Given the description of an element on the screen output the (x, y) to click on. 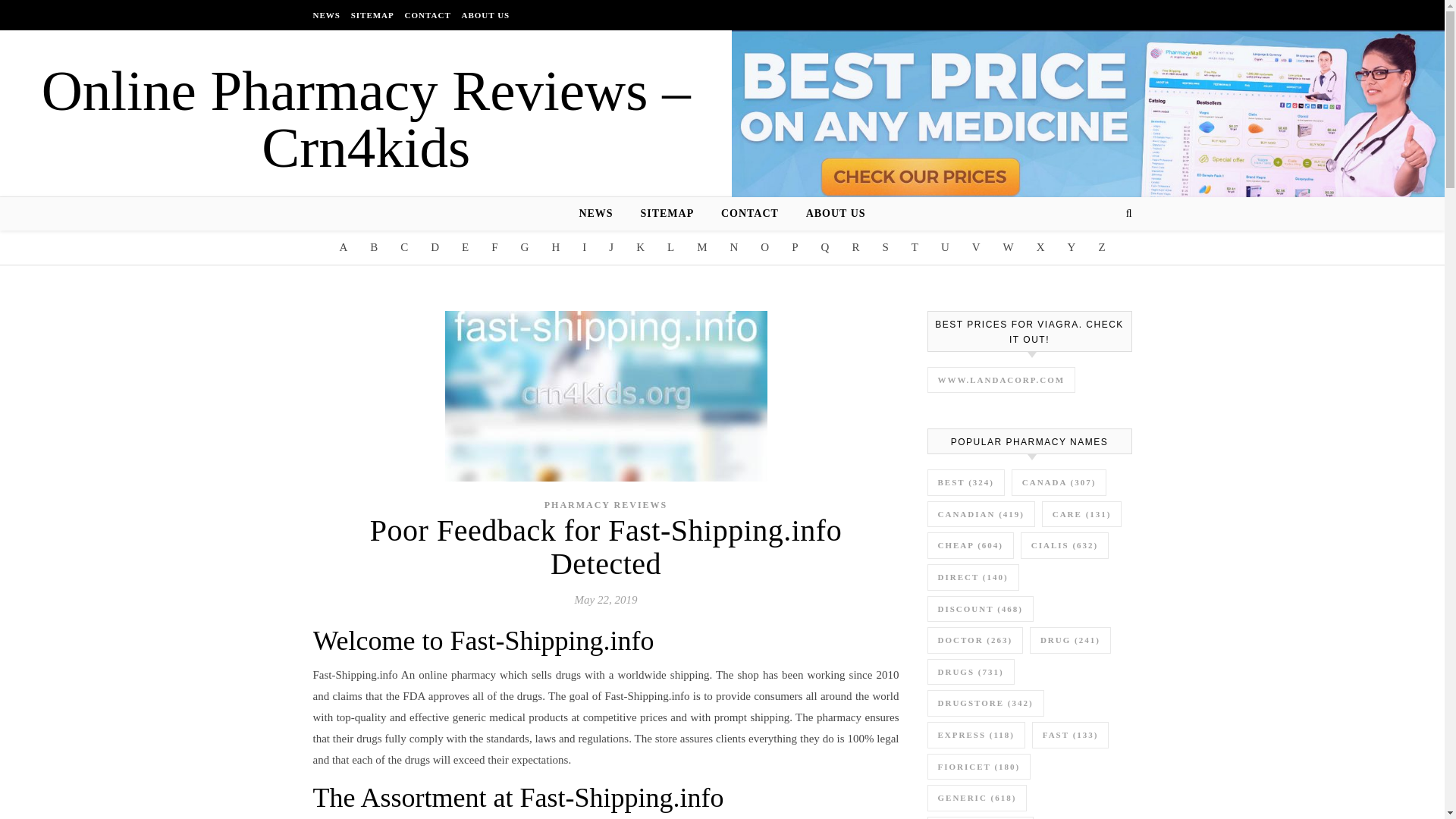
W (1007, 247)
SITEMAP (372, 15)
NEWS (601, 213)
CONTACT (749, 213)
ABOUT US (483, 15)
ABOUT US (829, 213)
NEWS (328, 15)
SITEMAP (666, 213)
CONTACT (427, 15)
